Given the description of an element on the screen output the (x, y) to click on. 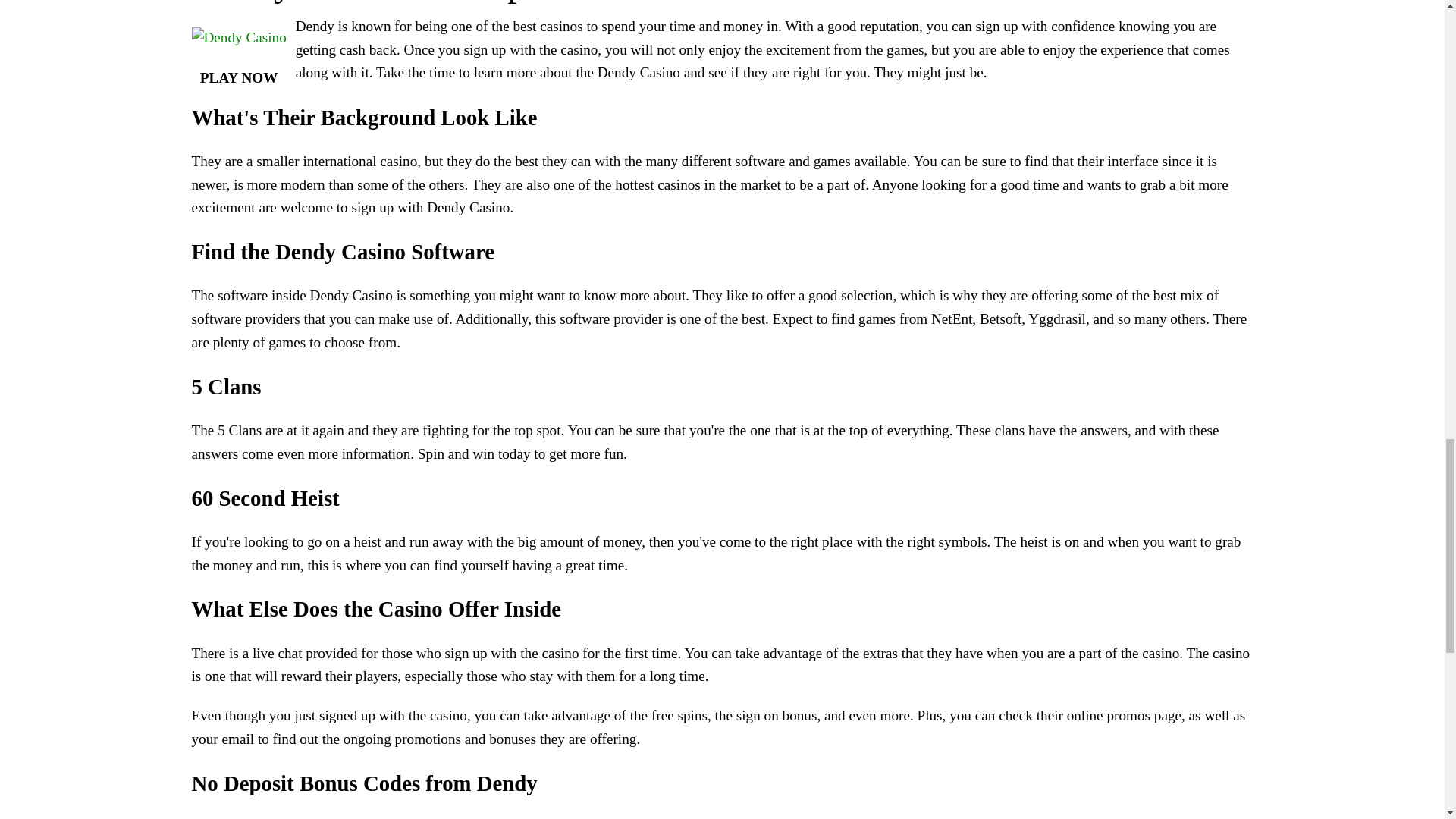
PLAY NOW (238, 78)
